Given the description of an element on the screen output the (x, y) to click on. 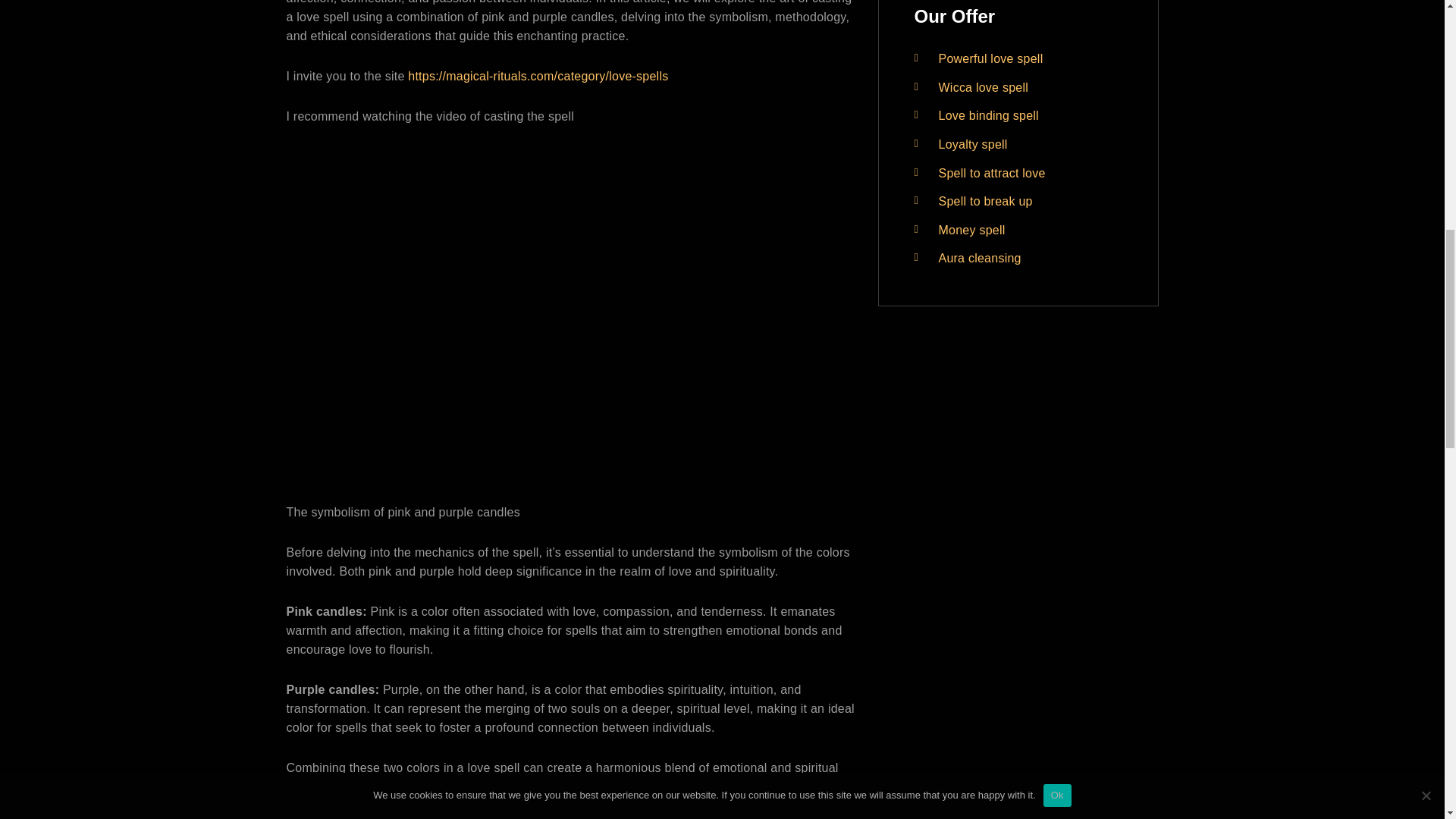
Spell to break up (985, 201)
Wicca love spell (984, 87)
Money spell (972, 229)
Powerful love spell (991, 58)
Love binding spell (989, 115)
Loyalty spell (973, 144)
Aura cleansing (980, 257)
Spell to attract love (992, 173)
